Given the description of an element on the screen output the (x, y) to click on. 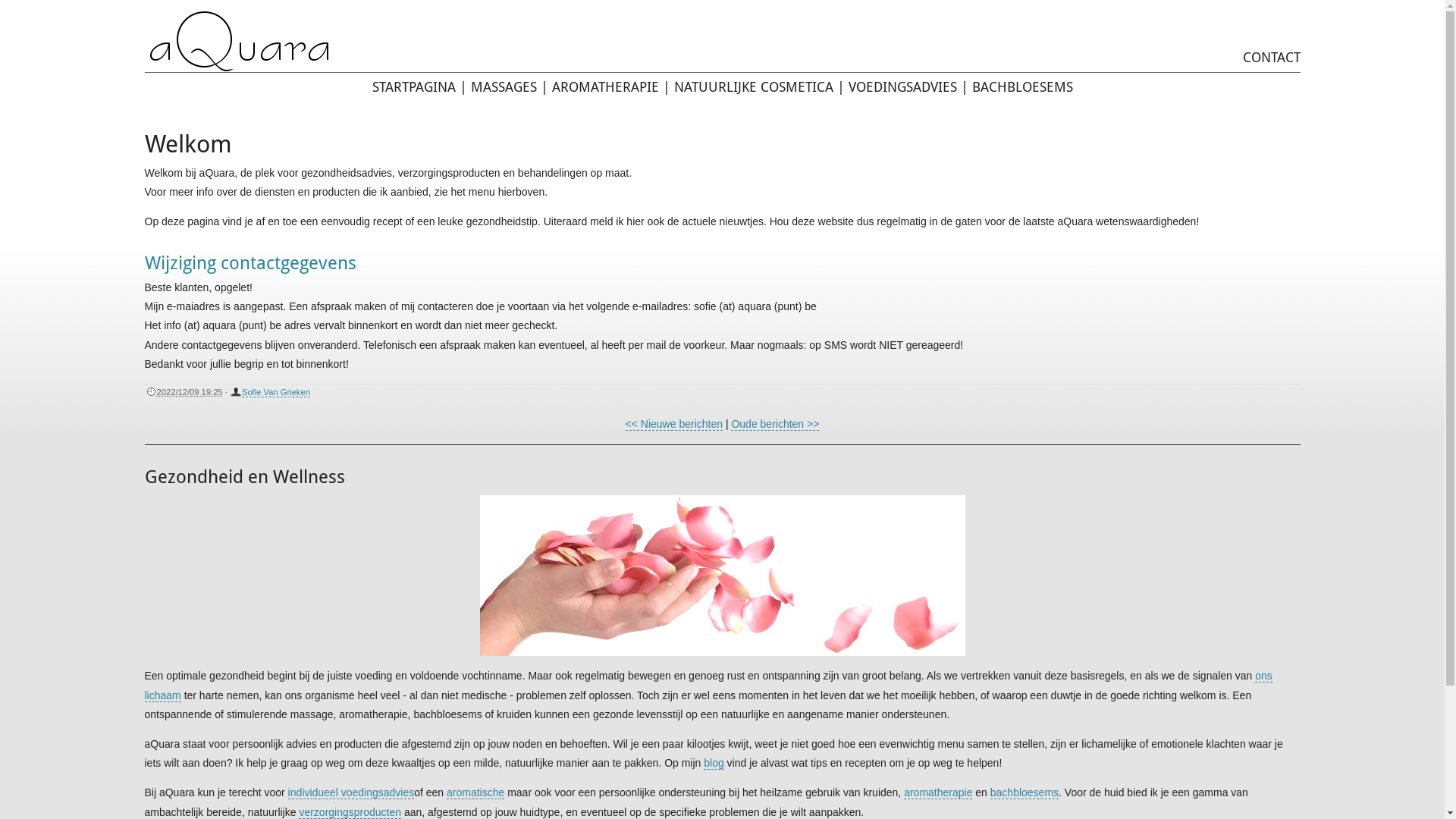
VOEDINGSADVIES Element type: text (901, 86)
blog Element type: text (713, 762)
aromatische Element type: text (475, 792)
CONTACT Element type: text (1270, 57)
bachbloesems Element type: text (1024, 792)
STARTPAGINA Element type: text (413, 86)
Sofie Van Grieken Element type: text (275, 392)
<< Nieuwe berichten Element type: text (673, 423)
Oude berichten >> Element type: text (775, 423)
AROMATHERAPIE Element type: text (605, 86)
individueel voedingsadvies Element type: text (351, 792)
Wijziging contactgegevens Element type: text (249, 262)
aromatherapie Element type: text (937, 792)
ons lichaam Element type: text (707, 685)
gezondheid en wellness, foto rozeblaadjes Element type: hover (721, 575)
MASSAGES Element type: text (503, 86)
NATUURLIJKE COSMETICA Element type: text (752, 86)
BACHBLOESEMS Element type: text (1022, 86)
